Given the description of an element on the screen output the (x, y) to click on. 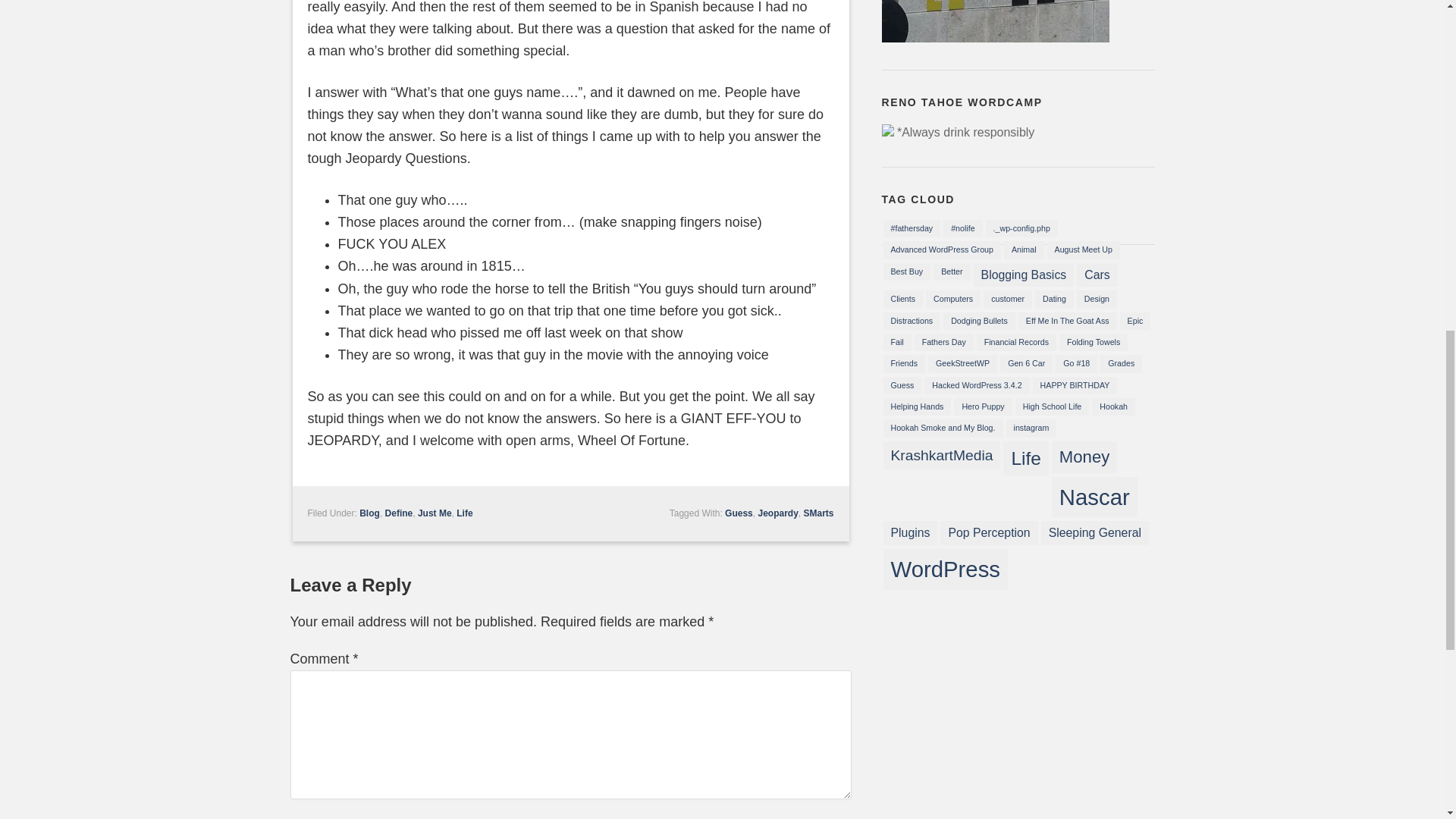
Life (464, 512)
Animal (1023, 249)
Guess (738, 512)
August Meet Up (1082, 249)
Free Street Art in London - Space Invader (994, 34)
Just Me (434, 512)
SMarts (817, 512)
Define (399, 512)
Blog (369, 512)
Jeopardy (777, 512)
Advanced WordPress Group (941, 249)
